Given the description of an element on the screen output the (x, y) to click on. 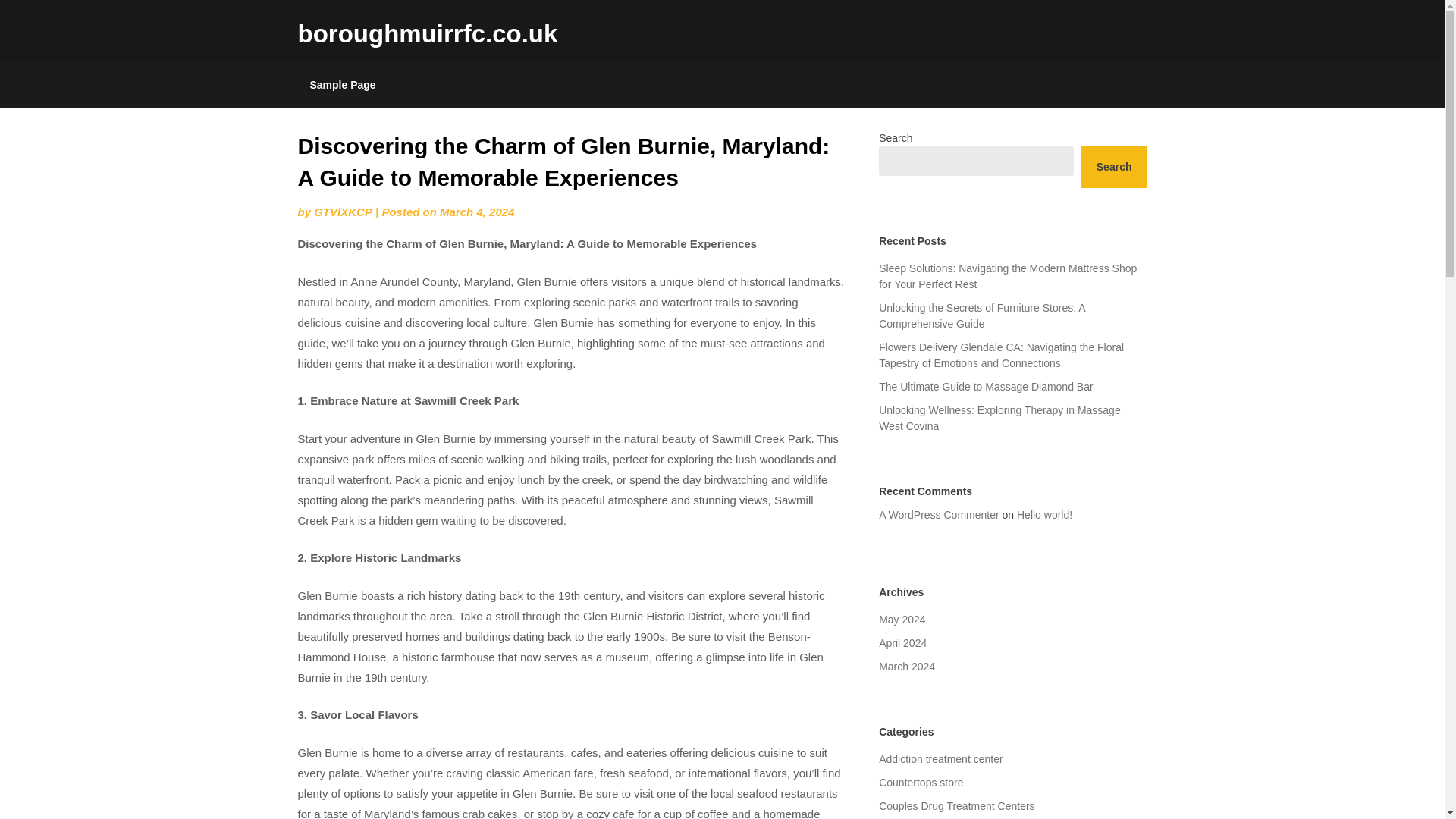
A WordPress Commenter (938, 514)
March 2024 (906, 666)
Search (1114, 167)
March 4, 2024 (476, 211)
Sample Page (342, 84)
The Ultimate Guide to Massage Diamond Bar (986, 386)
Addiction treatment center (941, 758)
GTVlXKCP (343, 211)
April 2024 (902, 643)
Couples Drug Treatment Centers (956, 806)
Hello world! (1043, 514)
Unlocking Wellness: Exploring Therapy in Massage West Covina (1000, 418)
